Given the description of an element on the screen output the (x, y) to click on. 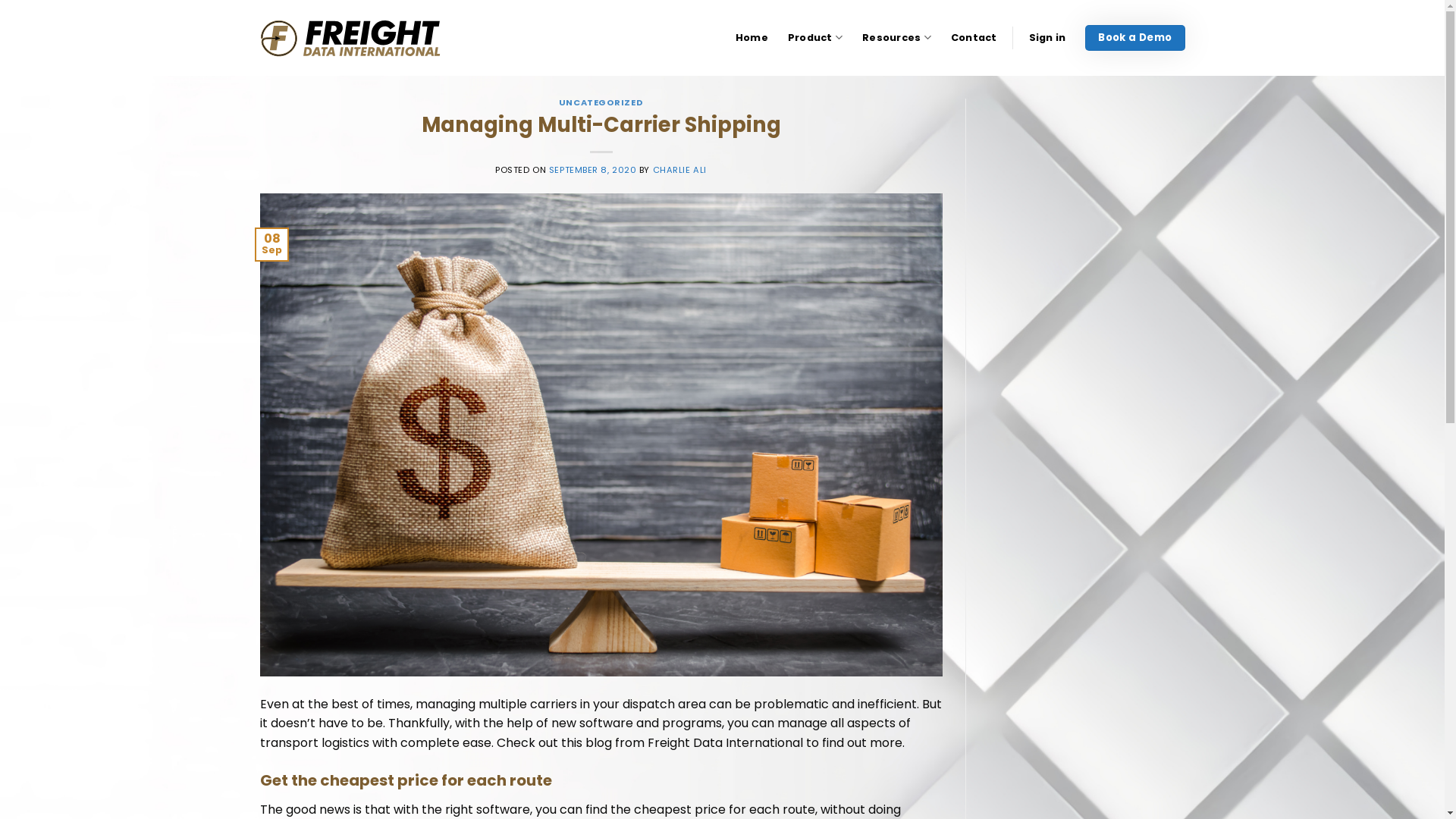
Contact Element type: text (973, 37)
UNCATEGORIZED Element type: text (600, 102)
Home Element type: text (751, 37)
Product Element type: text (814, 37)
Book a Demo Element type: text (1134, 37)
Resources Element type: text (896, 37)
Freight Data International - Control Your Outcomes Element type: hover (350, 38)
SEPTEMBER 8, 2020 Element type: text (593, 169)
Sign in Element type: text (1047, 37)
CHARLIE ALI Element type: text (679, 169)
